Given the description of an element on the screen output the (x, y) to click on. 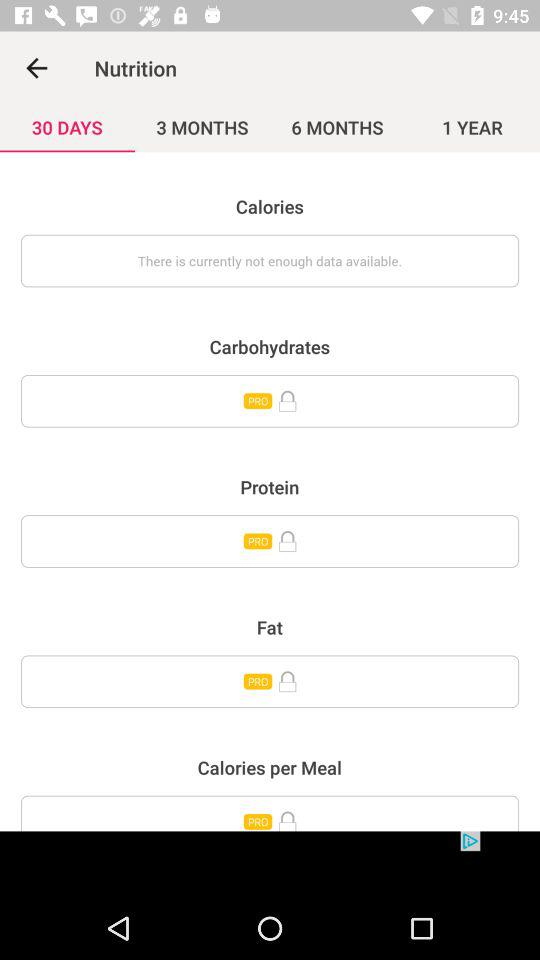
amount of ingested fat (269, 681)
